Given the description of an element on the screen output the (x, y) to click on. 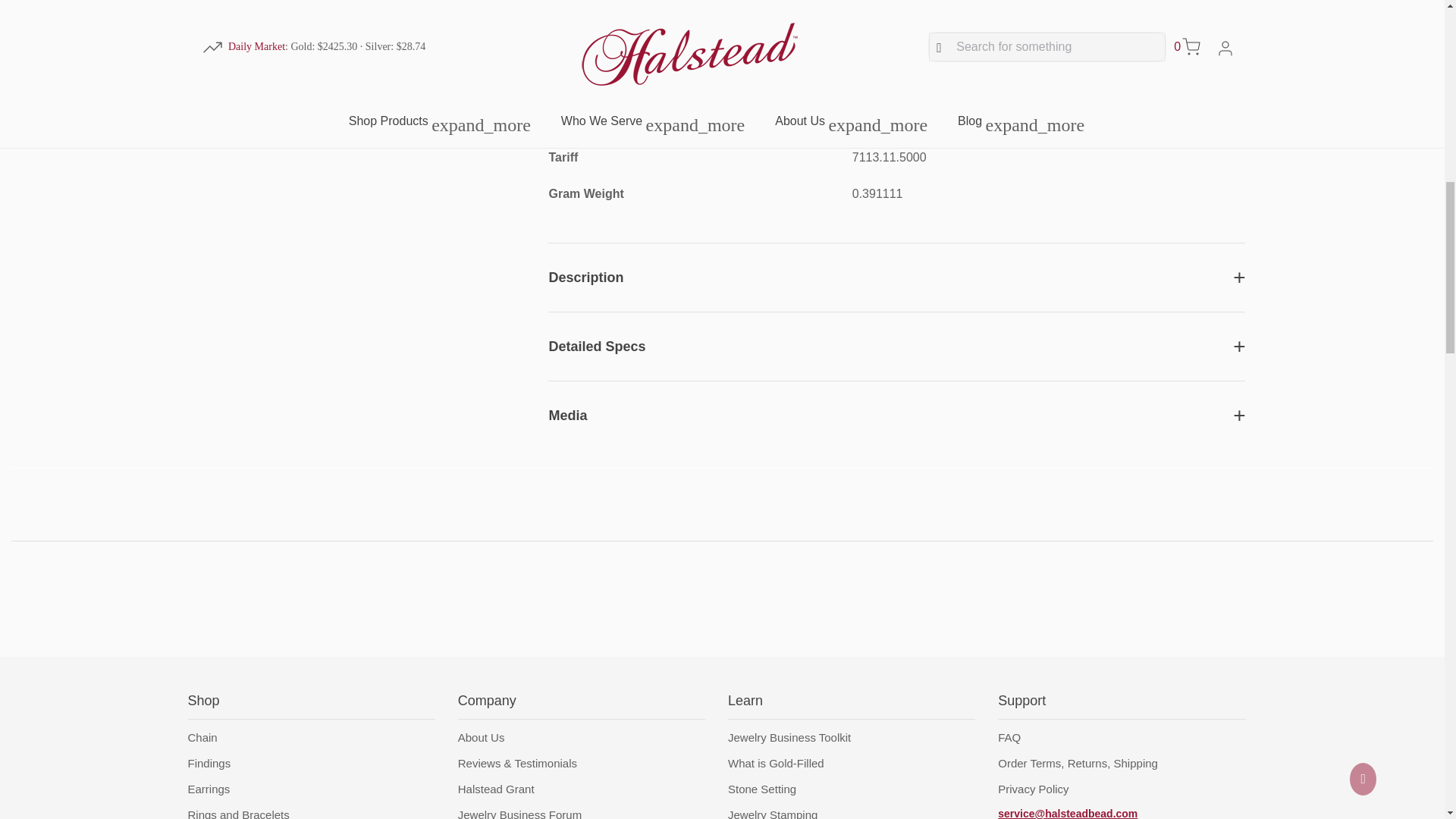
Open Halstead Grant website in new tab or window (496, 788)
